Given the description of an element on the screen output the (x, y) to click on. 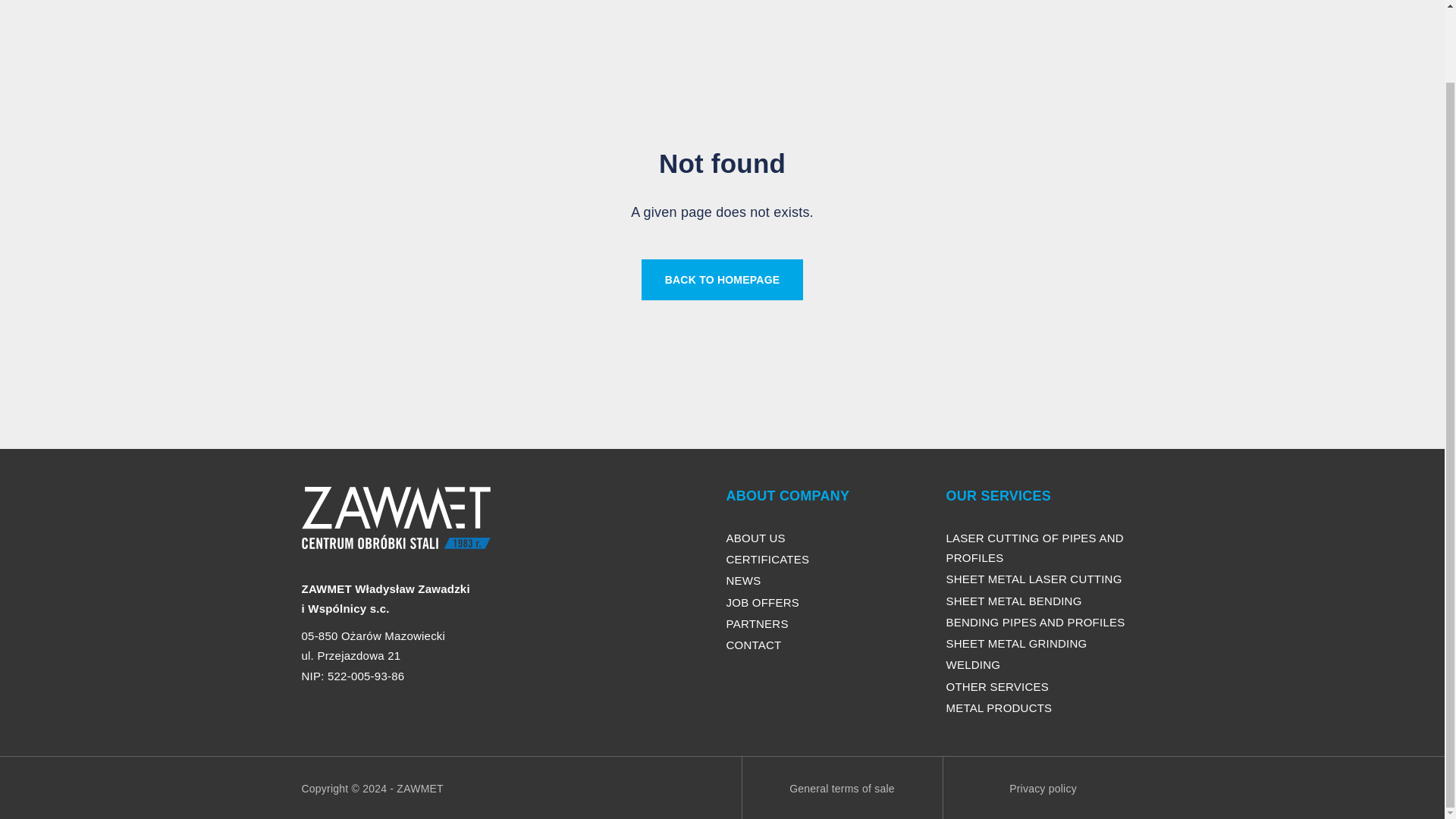
SHEET METAL BENDING (1013, 600)
CONTACT (753, 644)
BENDING PIPES AND PROFILES (1035, 621)
WELDING (973, 664)
CERTIFICATES (767, 558)
JOB OFFERS (762, 602)
SHEET METAL GRINDING (1016, 643)
METAL PRODUCTS (999, 707)
SHEET METAL LASER CUTTING (1034, 578)
PARTNERS (757, 623)
